Given the description of an element on the screen output the (x, y) to click on. 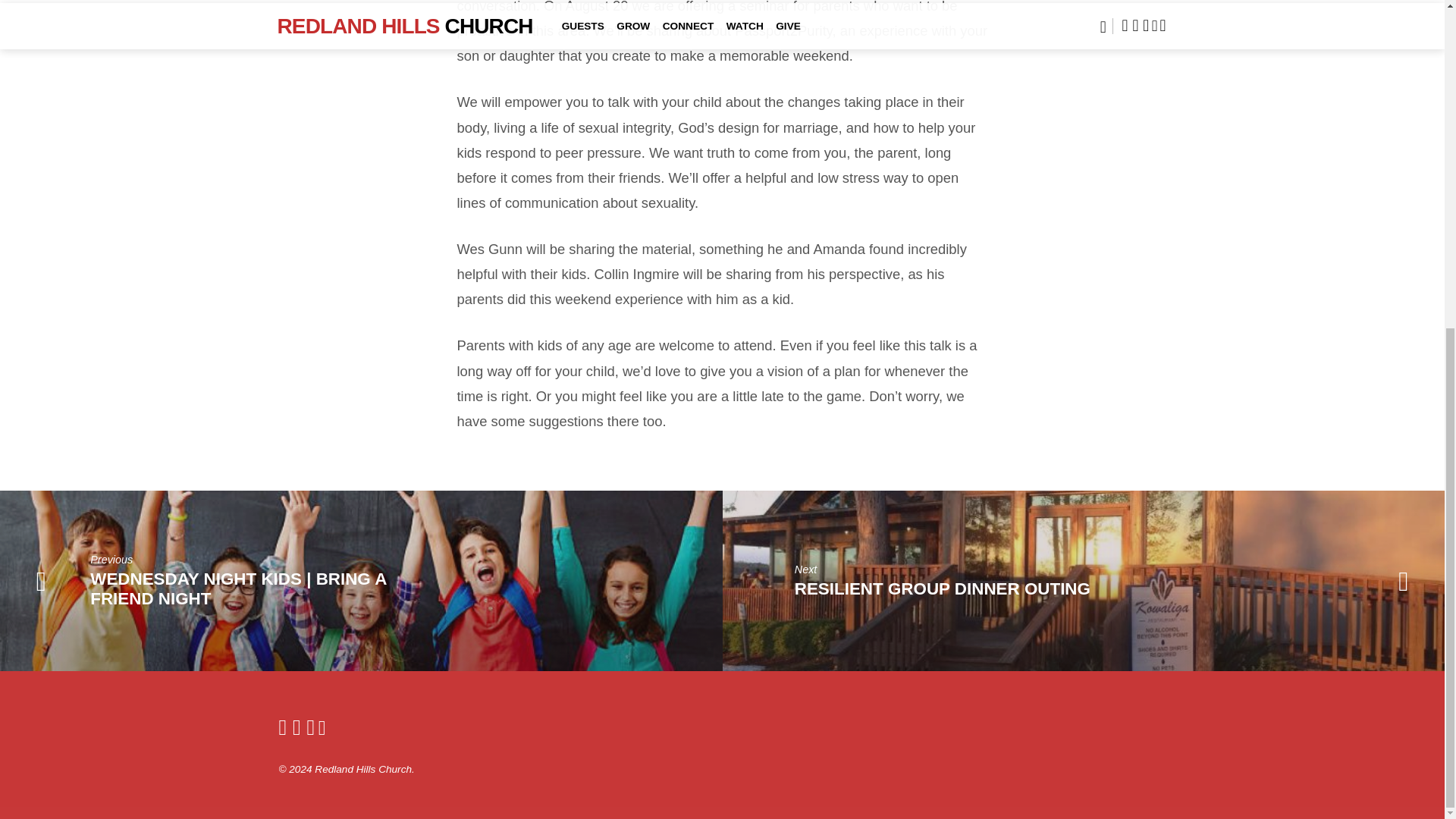
RESILIENT GROUP DINNER OUTING (942, 588)
